Given the description of an element on the screen output the (x, y) to click on. 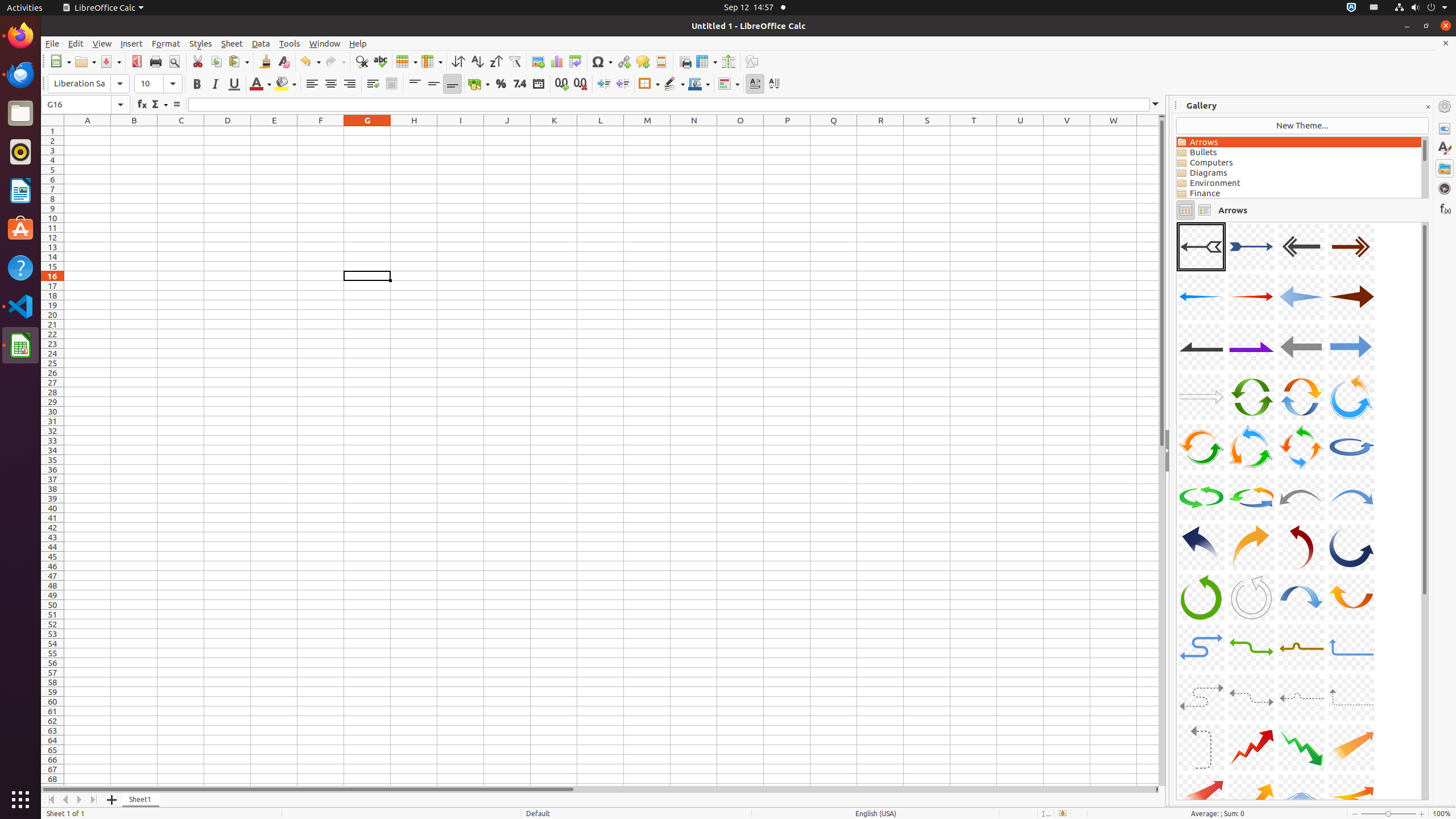
Show Applications Element type: toggle-button (20, 799)
A13-Arrow-Gray-Right Element type: list-item (1200, 396)
A32-CurvedArrow-Orange Element type: list-item (1350, 596)
Sort Ascending Element type: push-button (476, 61)
A16-CircleArrow Element type: list-item (1350, 396)
